Given the description of an element on the screen output the (x, y) to click on. 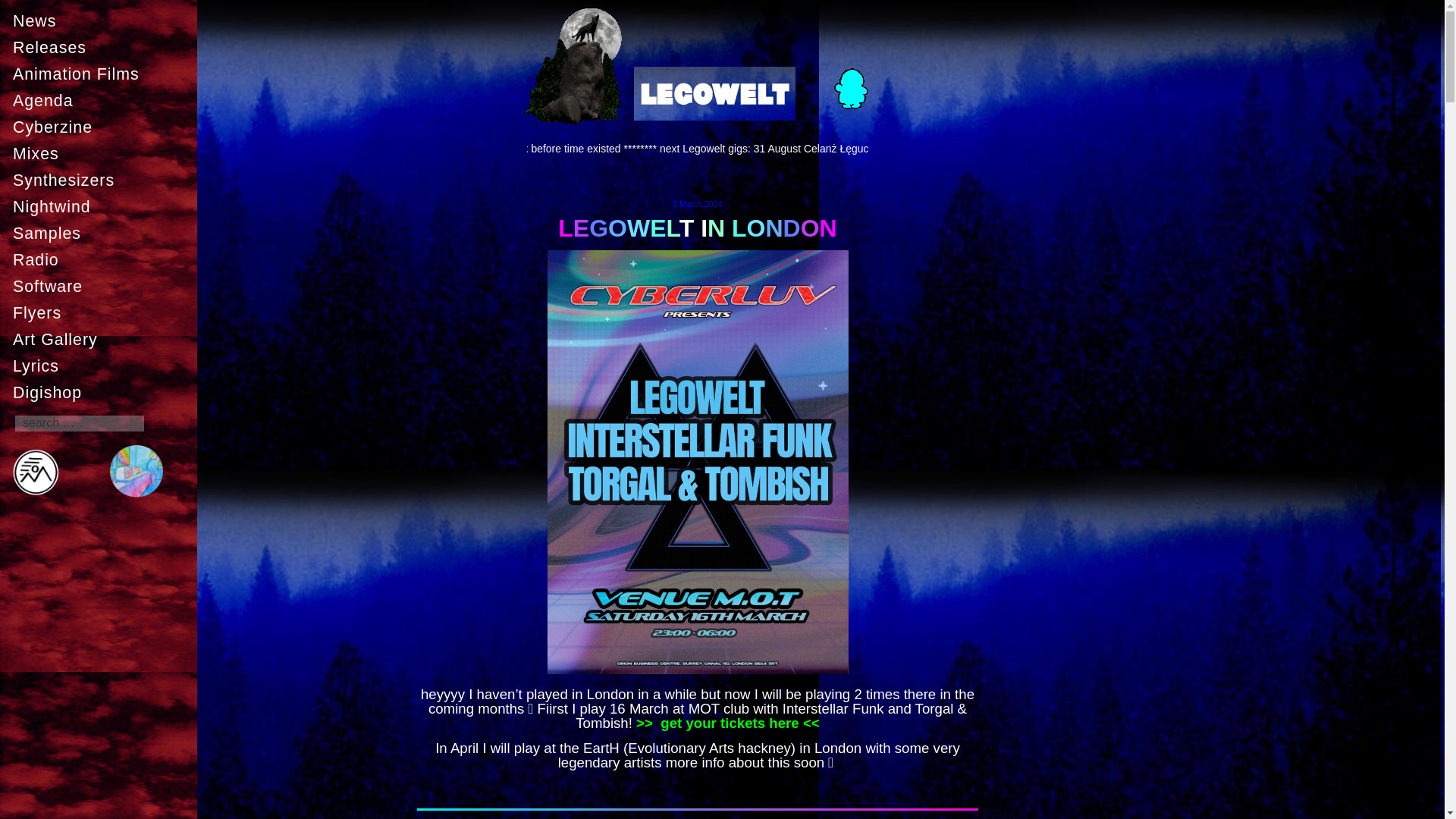
Flyers (102, 313)
Radio (102, 259)
Digishop (102, 392)
News (102, 20)
Releases (102, 47)
Cyberzine (102, 127)
Animation Films (102, 73)
Search for: (79, 423)
Agenda (102, 100)
Synthesizers (102, 180)
